Given the description of an element on the screen output the (x, y) to click on. 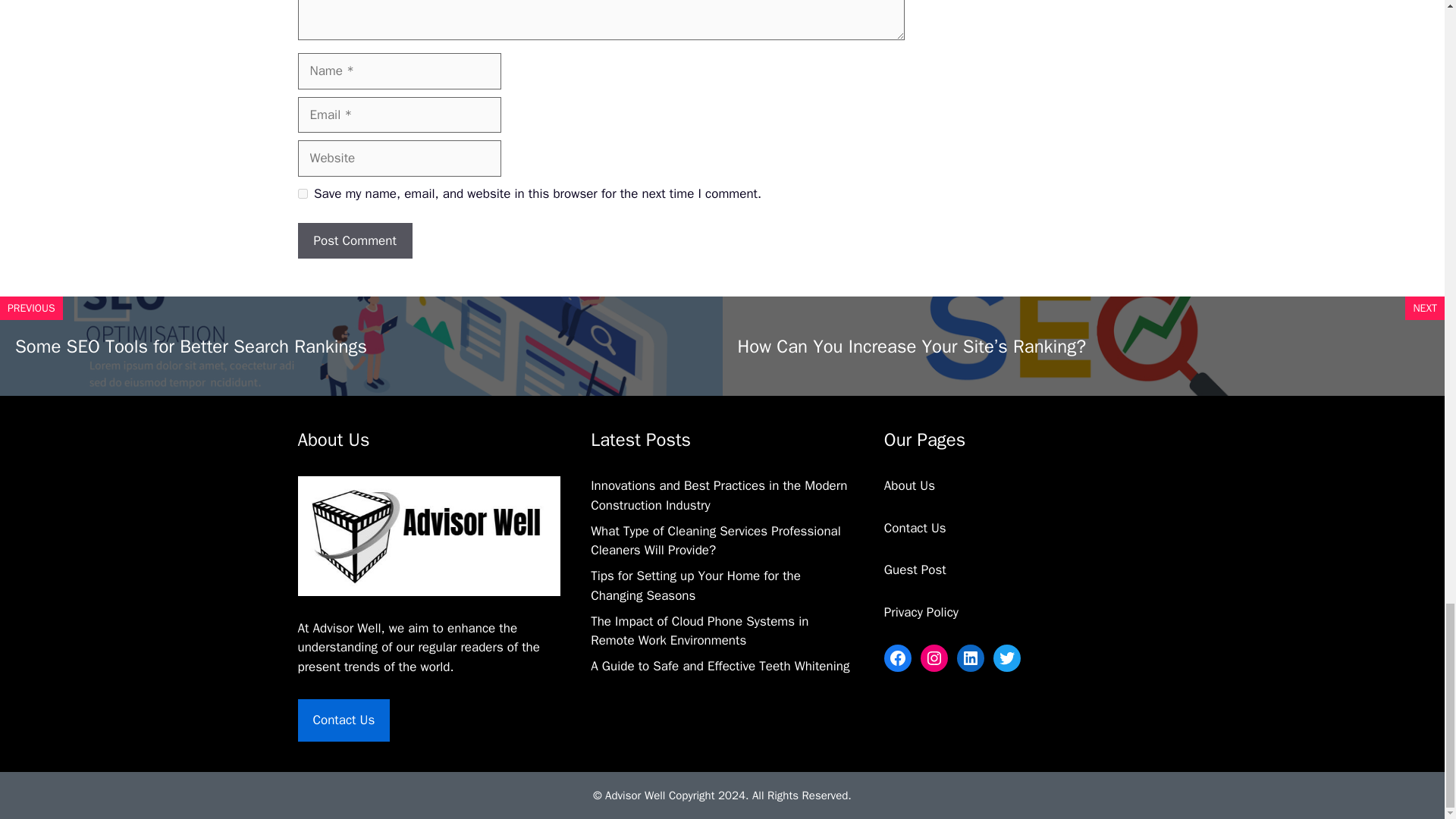
Some SEO Tools for Better Search Rankings (190, 345)
Advisor Well (347, 627)
Post Comment (354, 240)
yes (302, 194)
Contact Us (343, 720)
Post Comment (354, 240)
